Given the description of an element on the screen output the (x, y) to click on. 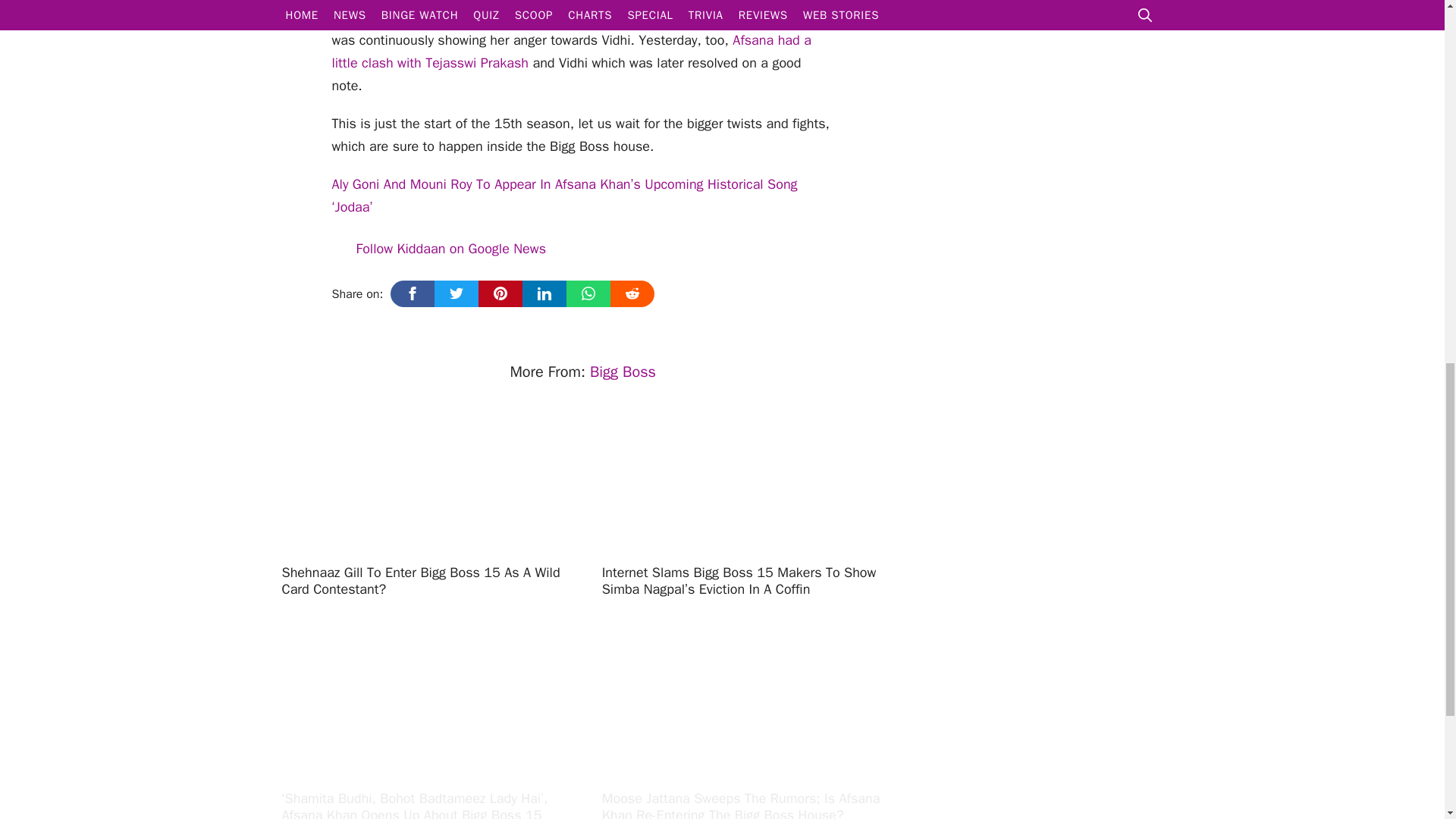
Afsana had a little clash with Tejasswi Prakash (570, 51)
Follow Kiddaan on Google News (439, 248)
